Given the description of an element on the screen output the (x, y) to click on. 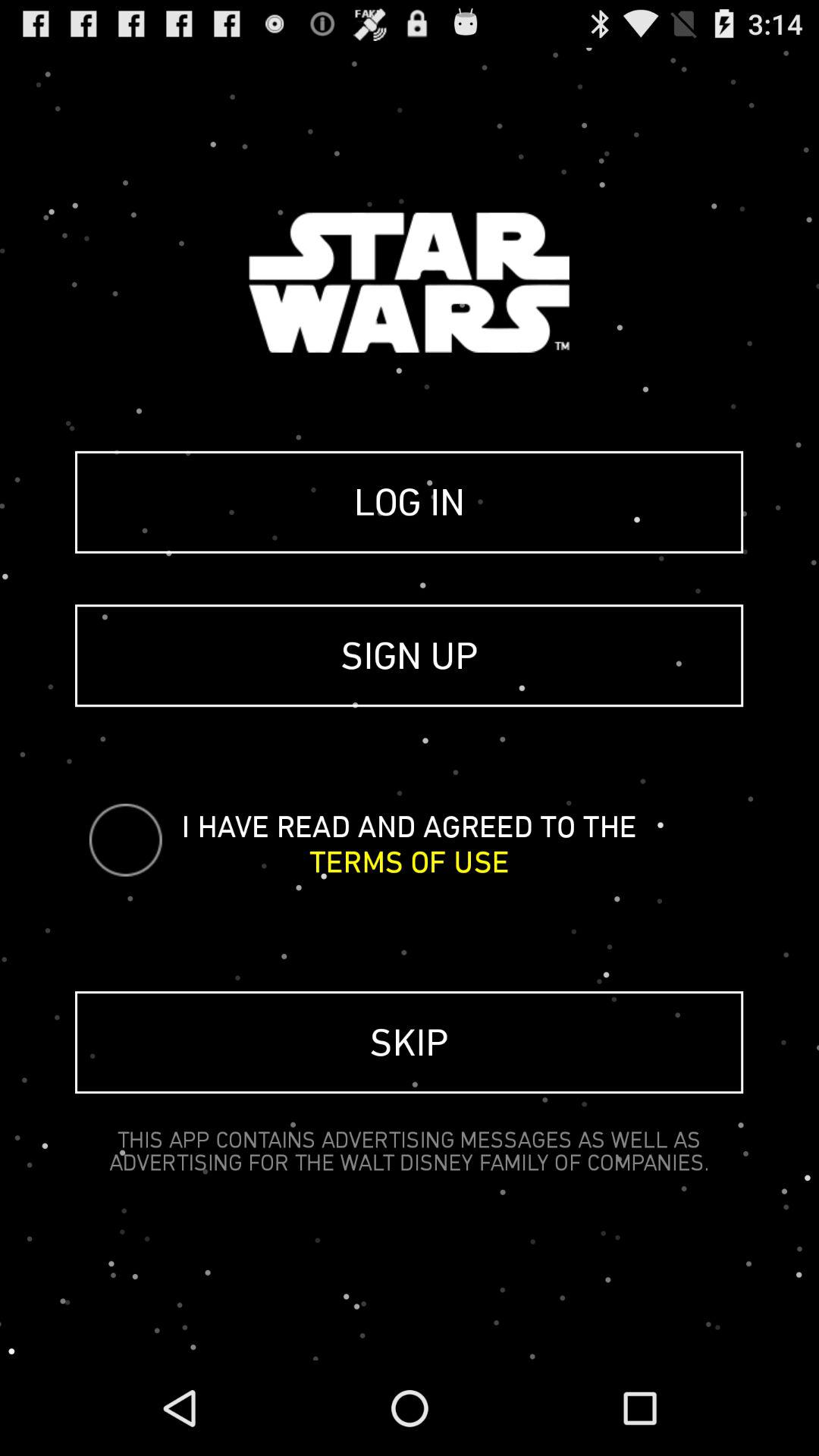
turn on icon below the log in (409, 655)
